Given the description of an element on the screen output the (x, y) to click on. 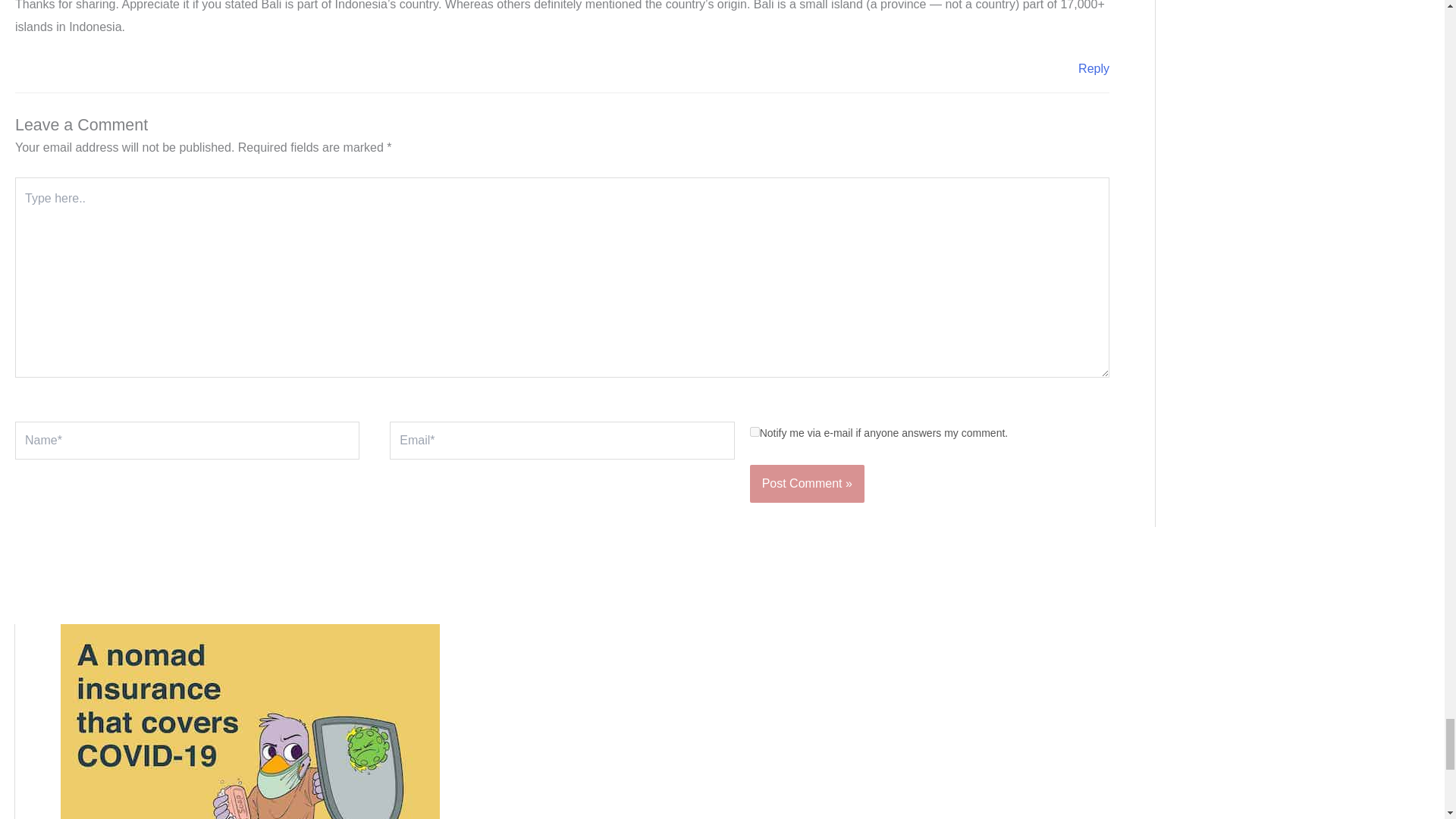
on (754, 431)
